Given the description of an element on the screen output the (x, y) to click on. 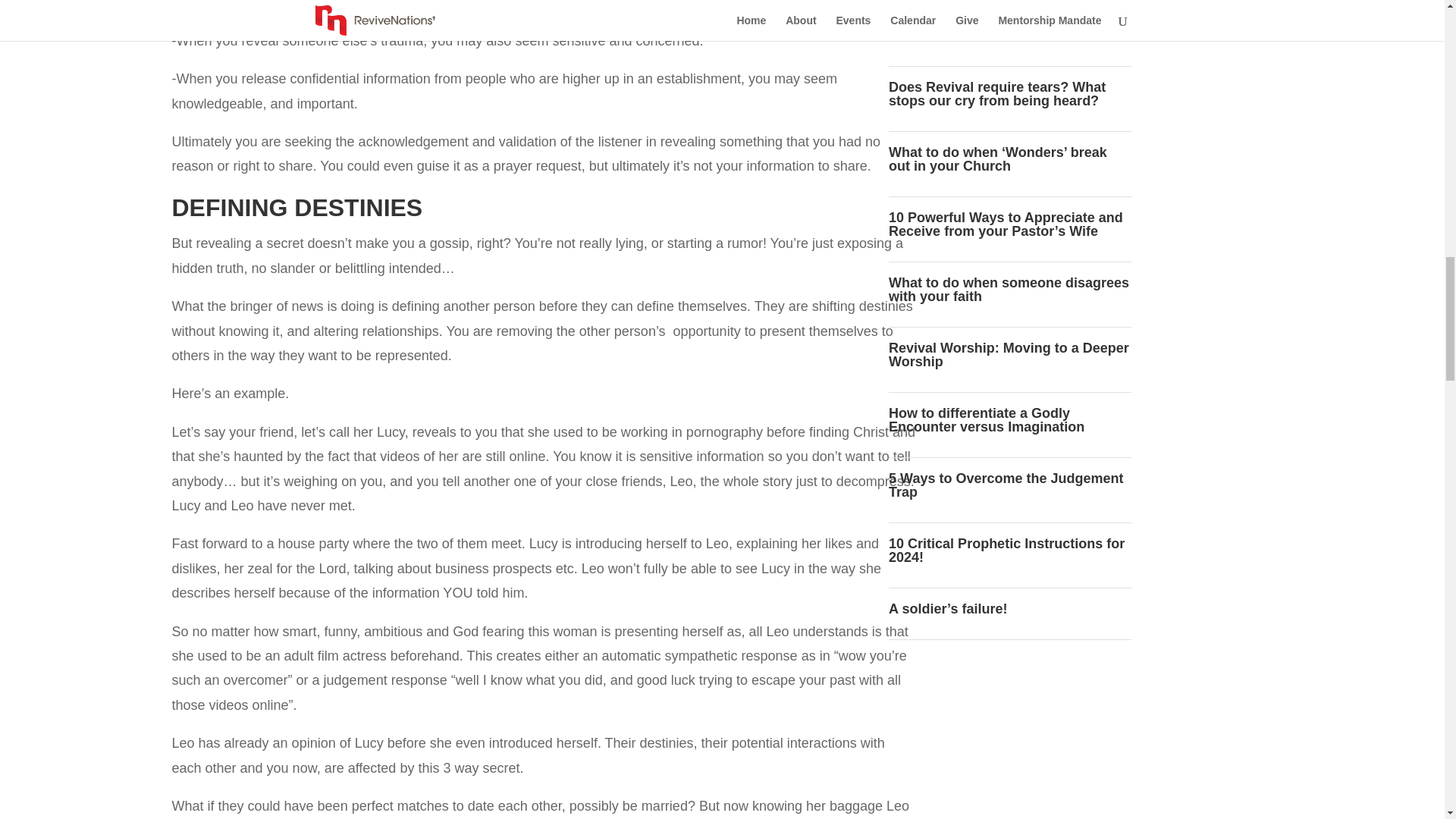
10 Critical Prophetic Instructions for 2024! (1006, 550)
How to differentiate a Godly Encounter versus Imagination (986, 419)
What to do when someone disagrees with your faith (1008, 289)
5 Ways to Overcome the Judgement Trap (1005, 484)
Revival Worship: Moving to a Deeper Worship (1008, 354)
